Given the description of an element on the screen output the (x, y) to click on. 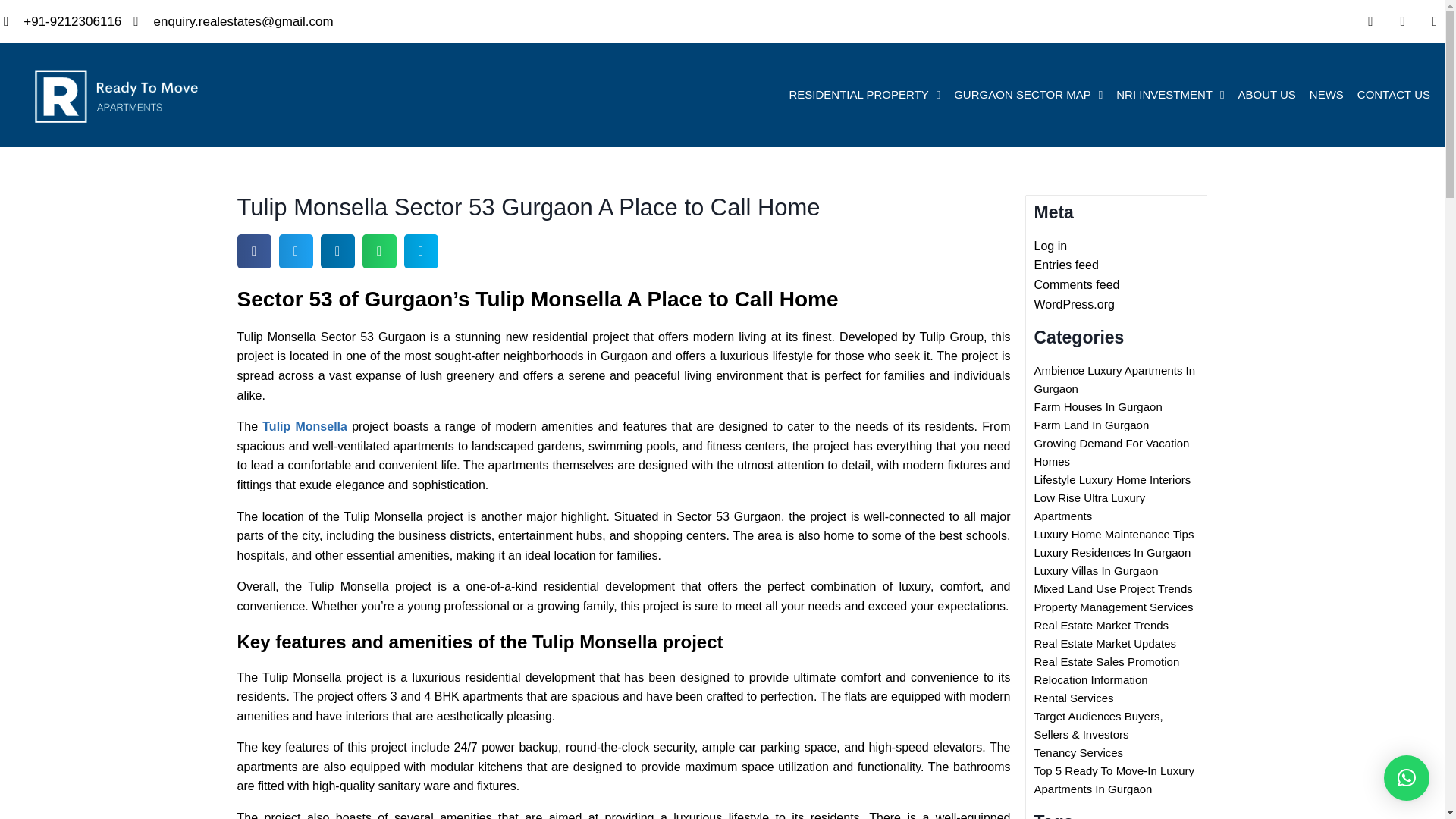
NEWS (1327, 94)
GURGAON SECTOR MAP (1028, 94)
CONTACT US (1394, 94)
RESIDENTIAL PROPERTY (865, 94)
ABOUT US (1265, 94)
NRI INVESTMENT (1169, 94)
